Given the description of an element on the screen output the (x, y) to click on. 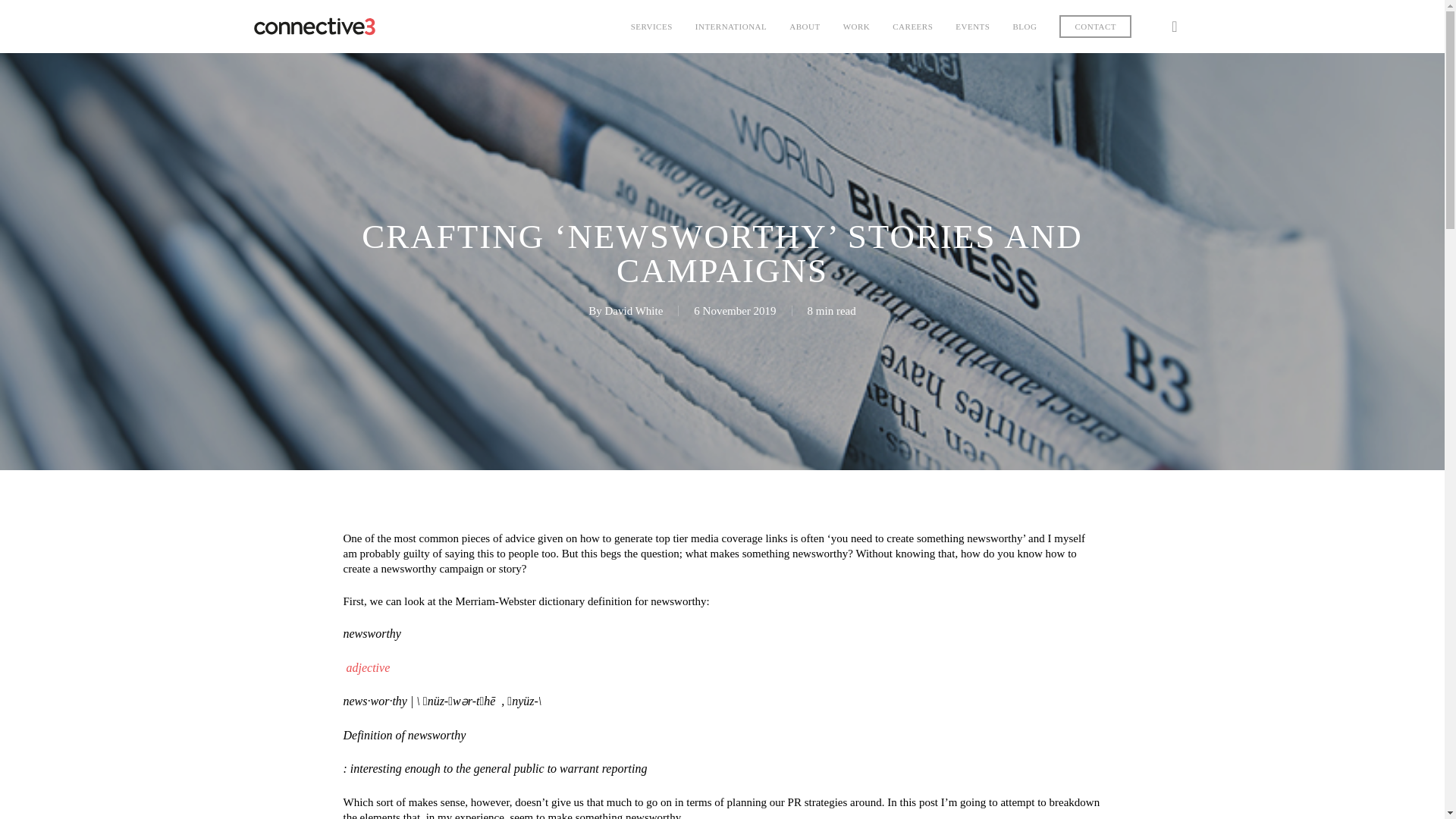
ABOUT (804, 26)
Posts by David White (634, 310)
SERVICES (651, 26)
INTERNATIONAL (731, 26)
